Given the description of an element on the screen output the (x, y) to click on. 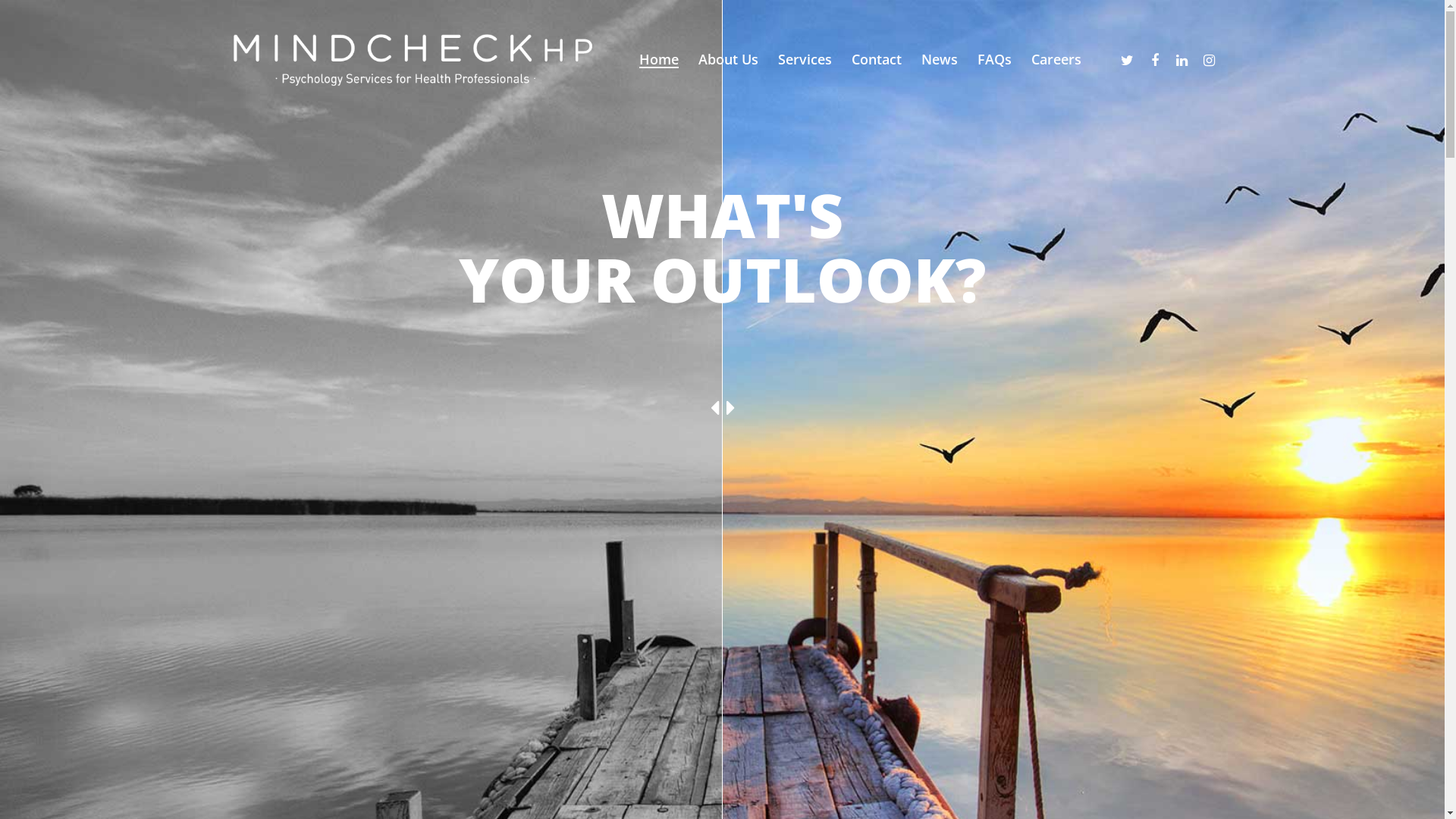
News Element type: text (938, 58)
Services Element type: text (804, 58)
Careers Element type: text (1056, 58)
Contact Element type: text (875, 58)
About Us Element type: text (727, 58)
FAQs Element type: text (993, 58)
Home Element type: text (657, 58)
